Given the description of an element on the screen output the (x, y) to click on. 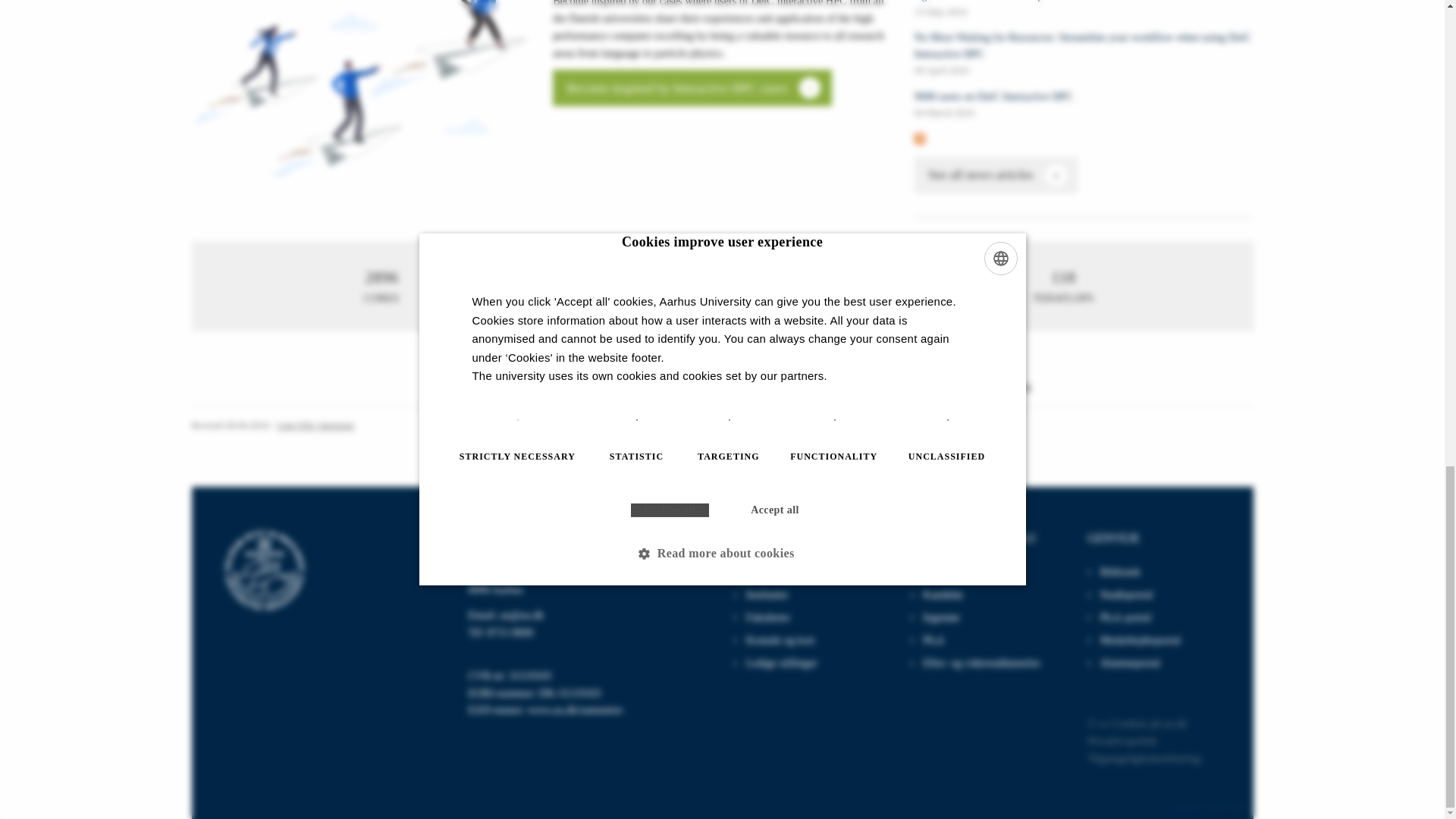
Fakulteter (767, 616)
Ledige stillinger (780, 662)
Institutter (767, 594)
Bachelor (942, 571)
Profil (1083, 103)
Kontakt og kort (758, 571)
9000 users on DeiC Interactive HPC (780, 639)
Become inspired by Interactive HPC cases (1083, 103)
See all news articles (692, 87)
